Given the description of an element on the screen output the (x, y) to click on. 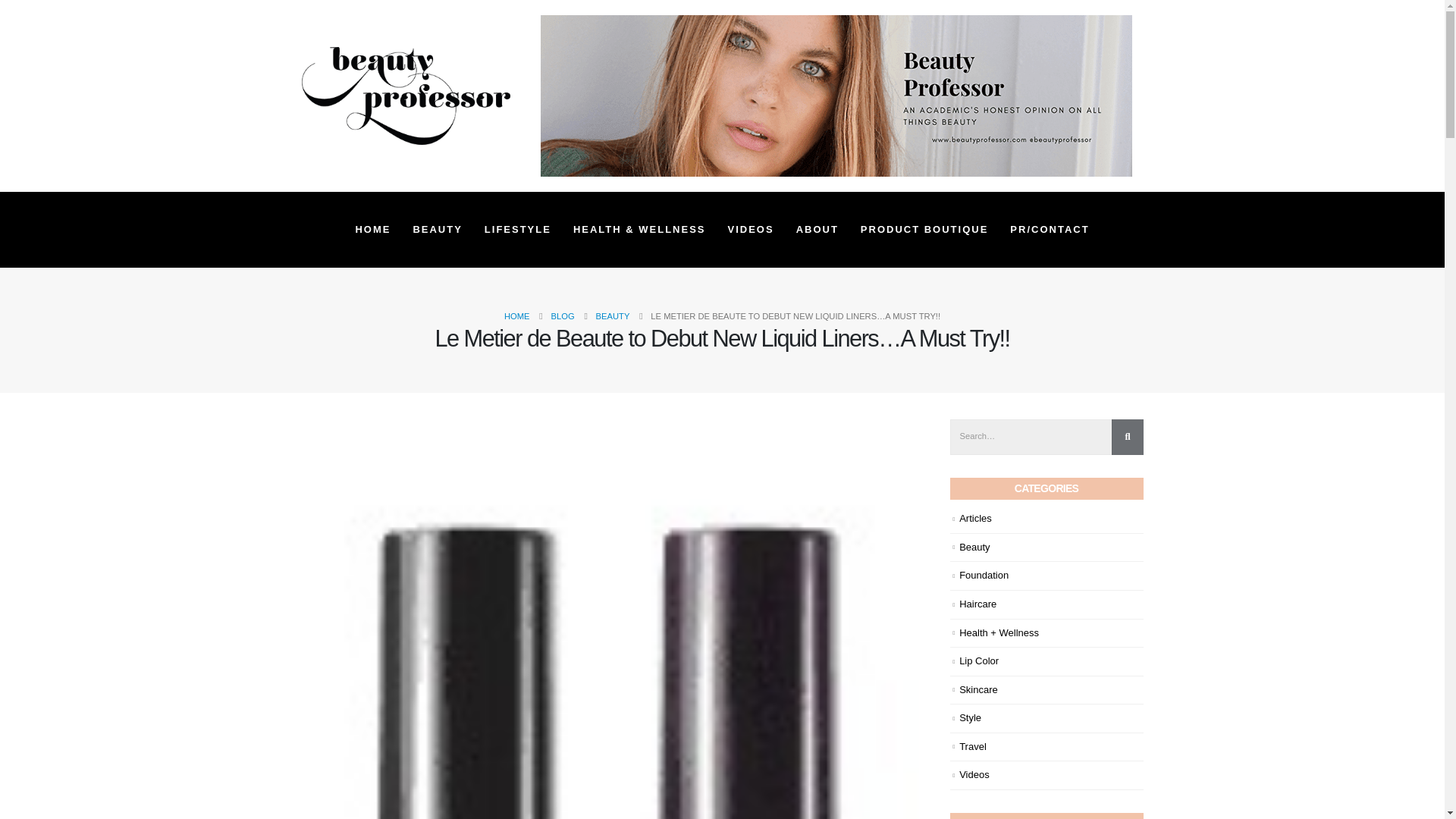
LIFESTYLE (518, 229)
Beauty Professor - My WordPress Blog (406, 95)
BEAUTY (436, 229)
Go to Home Page (516, 316)
